Given the description of an element on the screen output the (x, y) to click on. 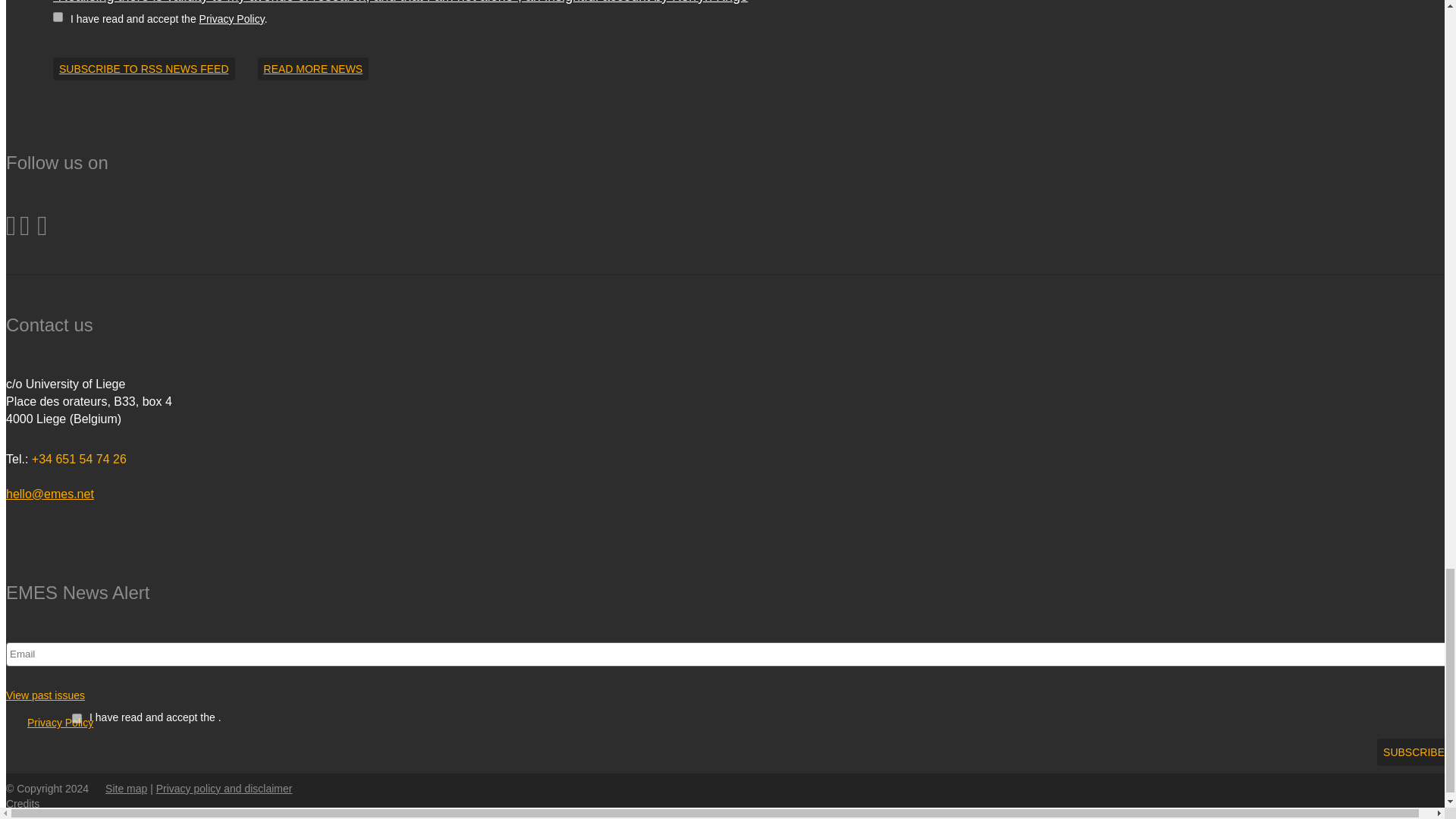
on (76, 718)
on (57, 17)
